Given the description of an element on the screen output the (x, y) to click on. 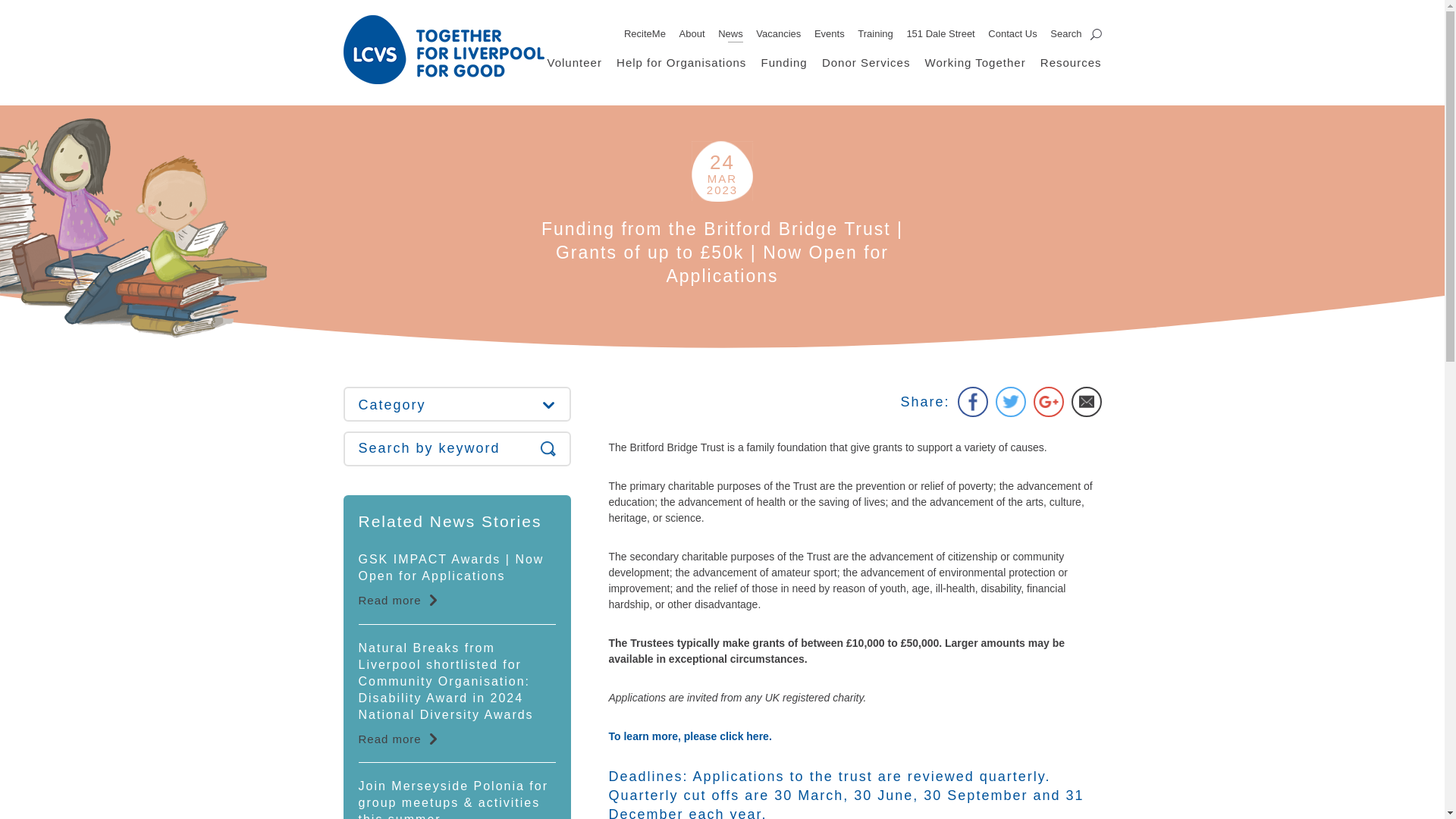
Search (1074, 33)
Funding (784, 62)
Vacancies (777, 33)
Working Together (975, 62)
News (729, 33)
Help for Organisations (680, 62)
About (691, 33)
Resources (1071, 62)
To learn more, please click here. (689, 736)
Donor Services (866, 62)
Volunteer (574, 62)
Training (874, 33)
ReciteMe (644, 33)
Search by keyword (456, 448)
Contact Us (1012, 33)
